Given the description of an element on the screen output the (x, y) to click on. 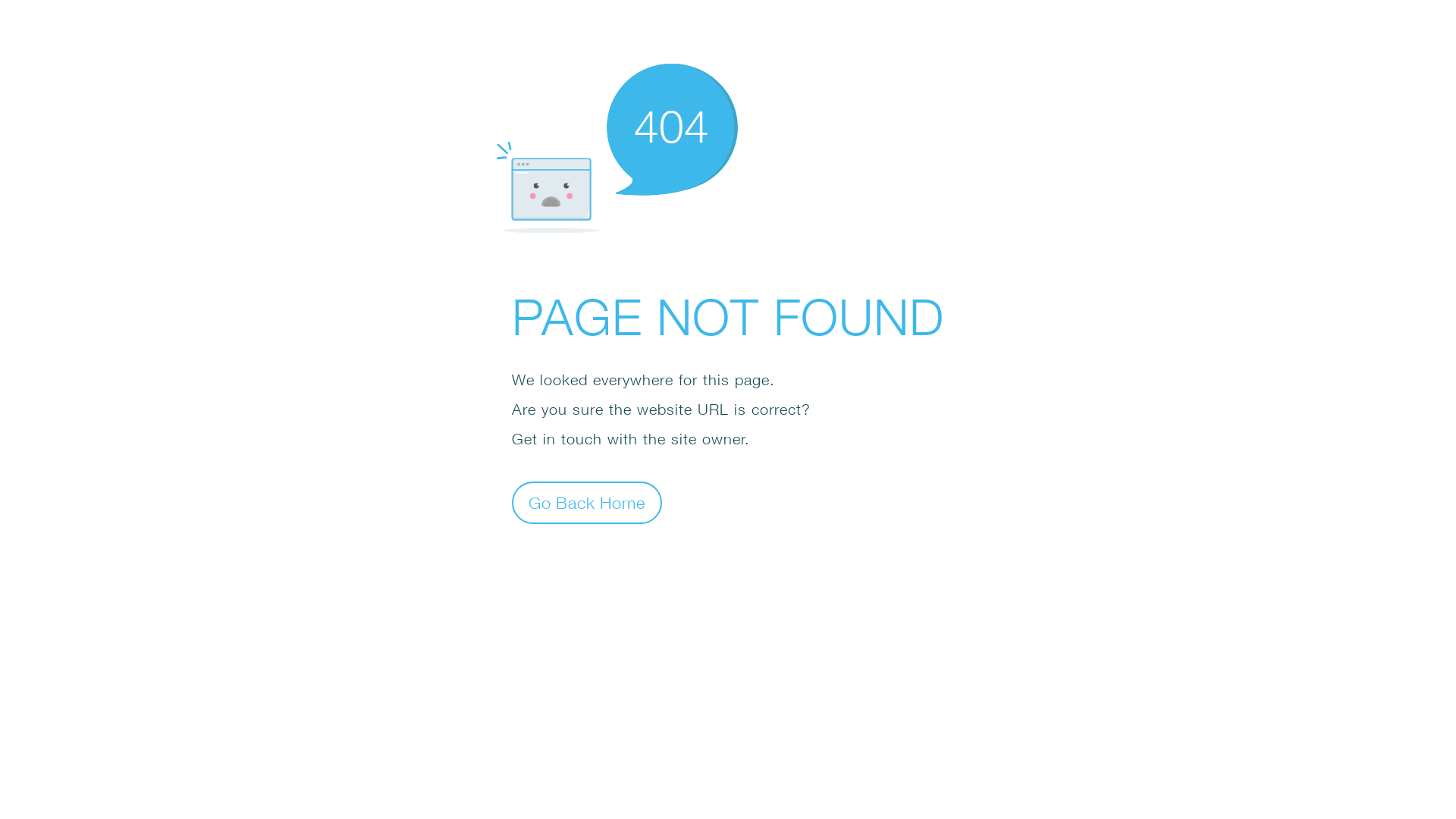
Go Back Home Element type: text (586, 502)
